Given the description of an element on the screen output the (x, y) to click on. 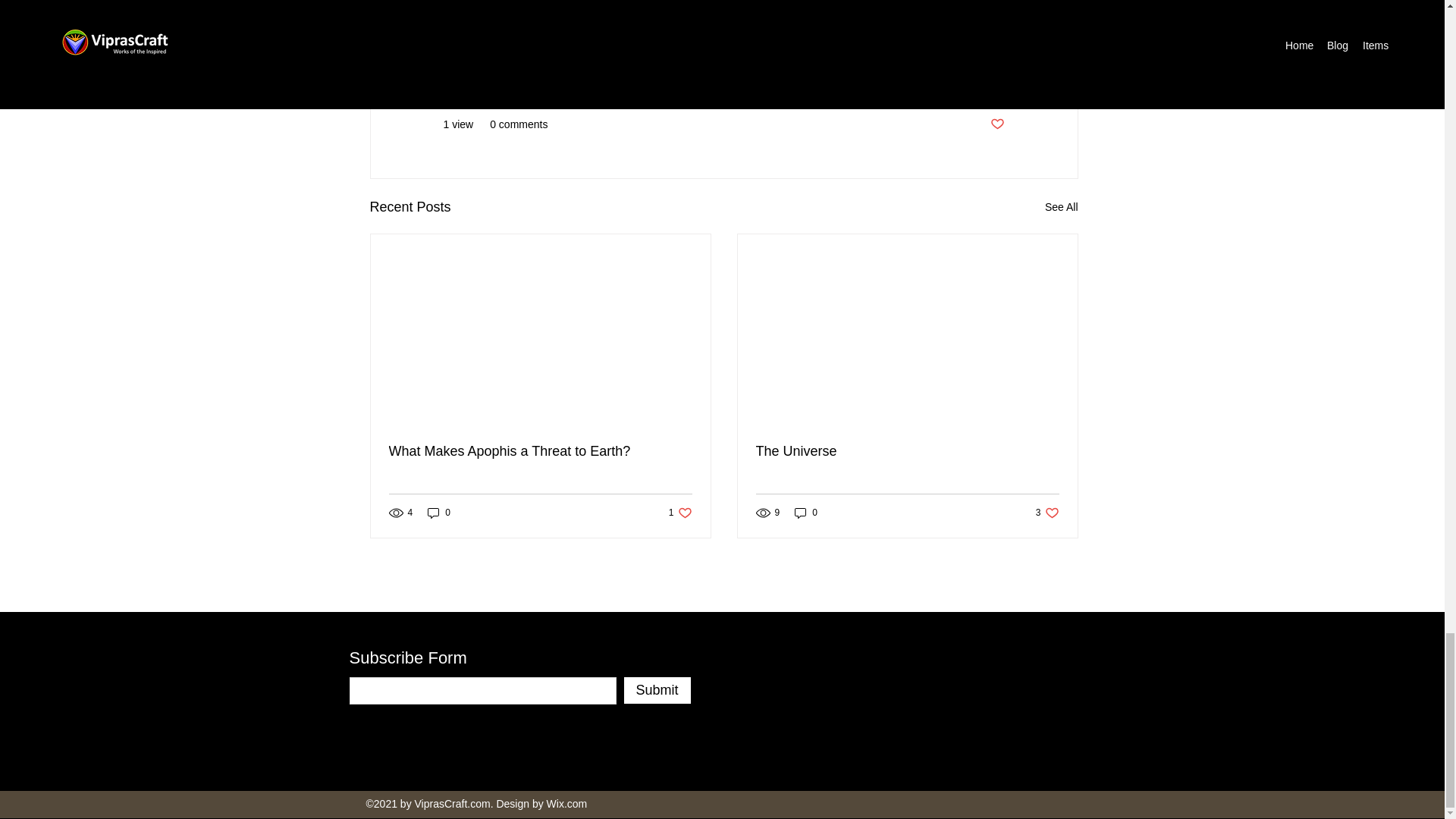
See All (1061, 207)
Post not marked as liked (997, 124)
